Given the description of an element on the screen output the (x, y) to click on. 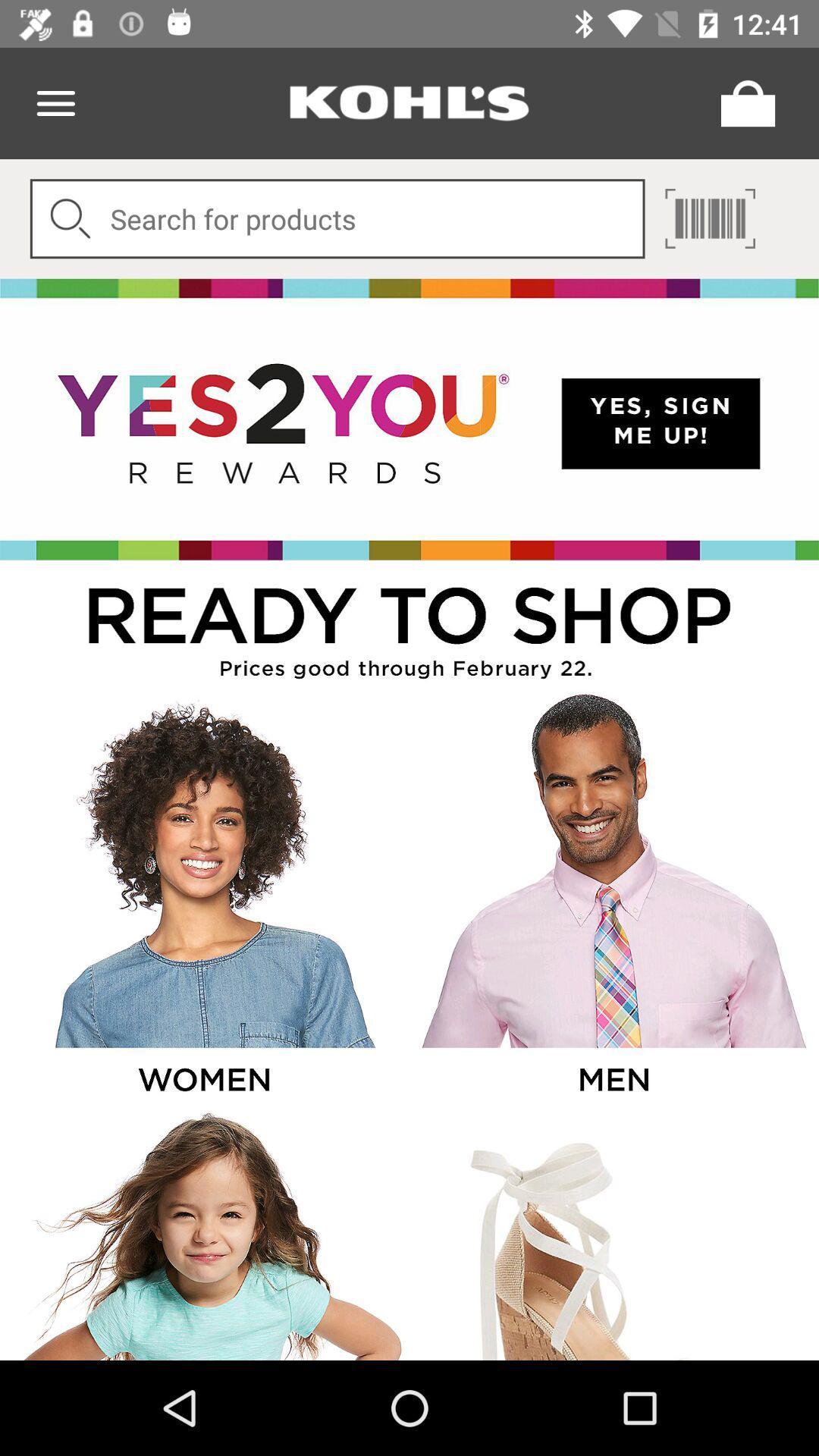
go to the shop link (409, 625)
